Given the description of an element on the screen output the (x, y) to click on. 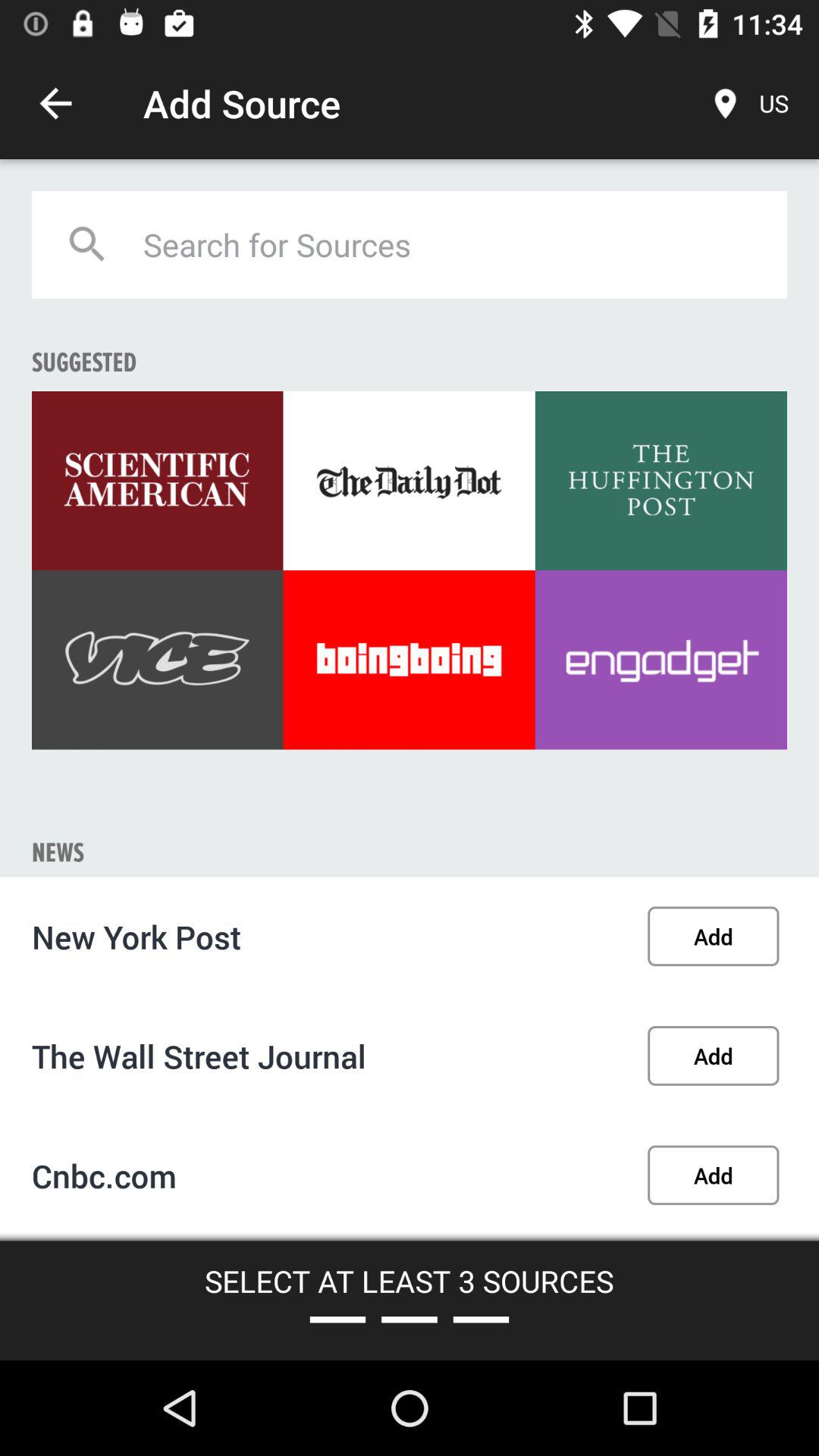
launch the item to the left of add source icon (55, 103)
